Given the description of an element on the screen output the (x, y) to click on. 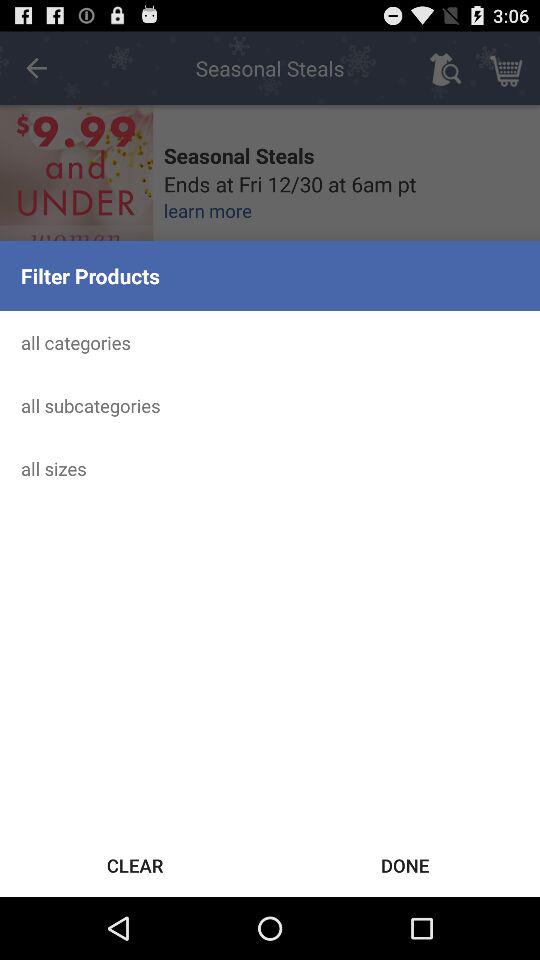
tap the done (405, 864)
